Given the description of an element on the screen output the (x, y) to click on. 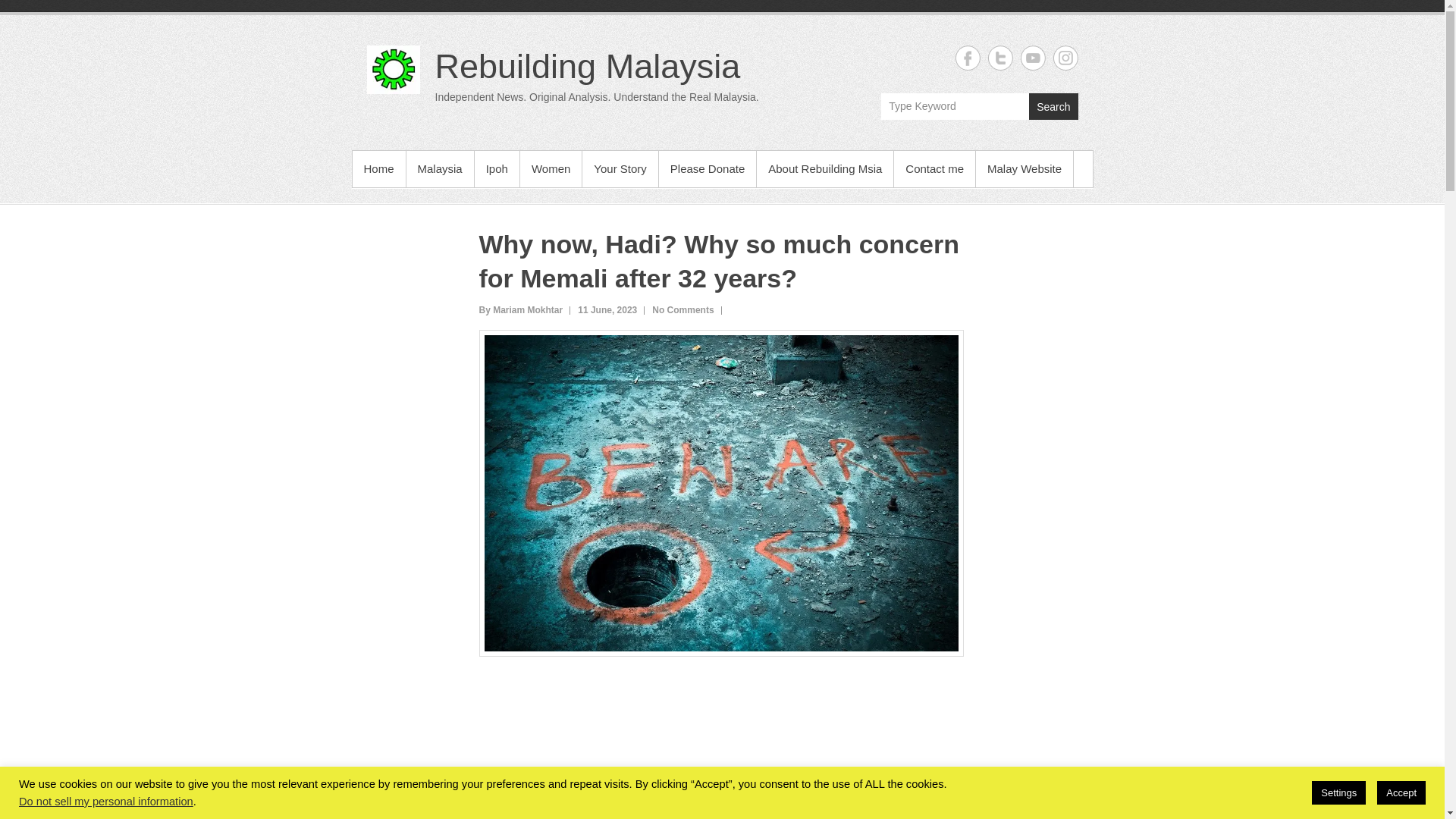
Type Keyword (955, 105)
Mariam Mokhtar (521, 309)
Rebuilding Malaysia on Facebook (967, 57)
Malaysia (440, 168)
Type Keyword (955, 105)
Type Keyword (955, 105)
Rebuilding Malaysia on Instagram (1064, 57)
Advertisement (722, 745)
Home (378, 168)
Search (1053, 106)
